Given the description of an element on the screen output the (x, y) to click on. 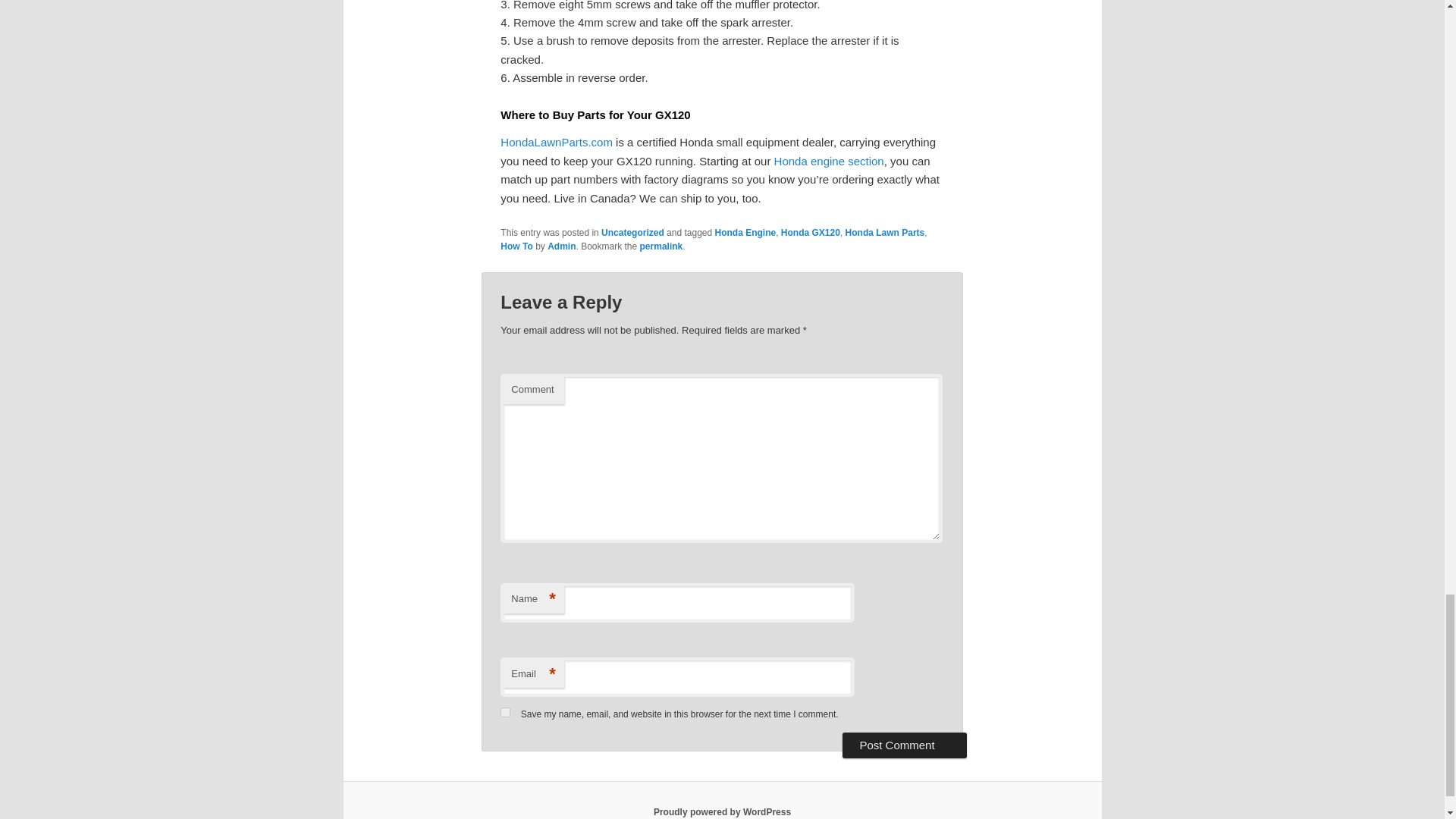
Honda engine section (828, 160)
Admin (561, 245)
Uncategorized (632, 232)
How To (516, 245)
Honda Engine (745, 232)
Honda GX120 (810, 232)
permalink (661, 245)
HondaLawnParts.com (556, 141)
Semantic Personal Publishing Platform (721, 811)
Post Comment (904, 745)
yes (505, 712)
Proudly powered by WordPress (721, 811)
Post Comment (904, 745)
Honda Lawn Parts (884, 232)
Permalink to How to Service a GX120 Honda Engine (661, 245)
